Given the description of an element on the screen output the (x, y) to click on. 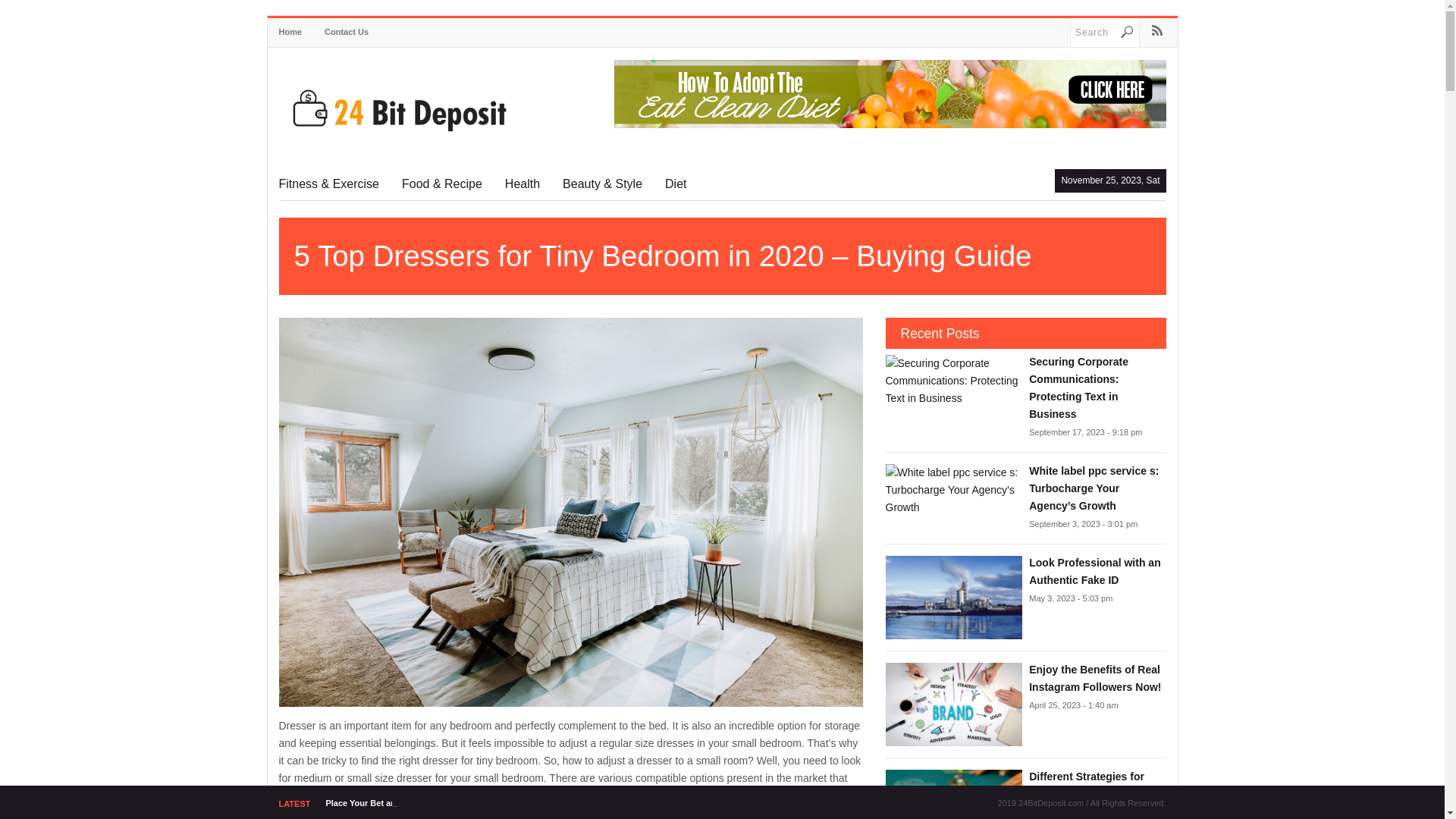
Enjoy the Benefits of Real Instagram Followers Now! Element type: text (1097, 678)
Health Element type: text (522, 178)
Look Professional with an Authentic Fake ID Element type: text (1097, 571)
Search Element type: text (1129, 32)
24 Bit Deposit Element type: hover (392, 110)
Contact Us Element type: text (346, 31)
Food & Recipe Element type: text (441, 178)
Diet Element type: text (669, 178)
Beauty & Style Element type: text (602, 178)
Home Element type: text (296, 31)
Fitness & Exercise Element type: text (334, 178)
